Given the description of an element on the screen output the (x, y) to click on. 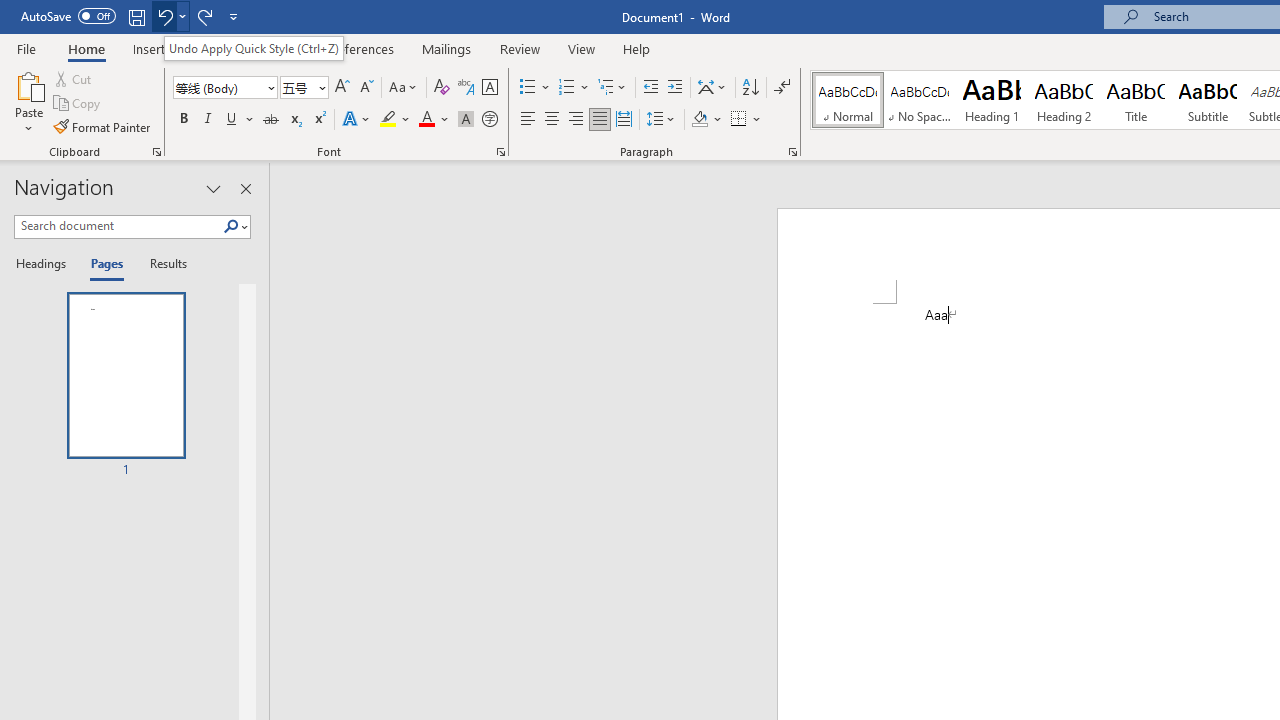
Distributed (623, 119)
Shrink Font (365, 87)
Pages (105, 264)
Sort... (750, 87)
Center (552, 119)
Task Pane Options (214, 188)
Asian Layout (712, 87)
Align Left (527, 119)
